Given the description of an element on the screen output the (x, y) to click on. 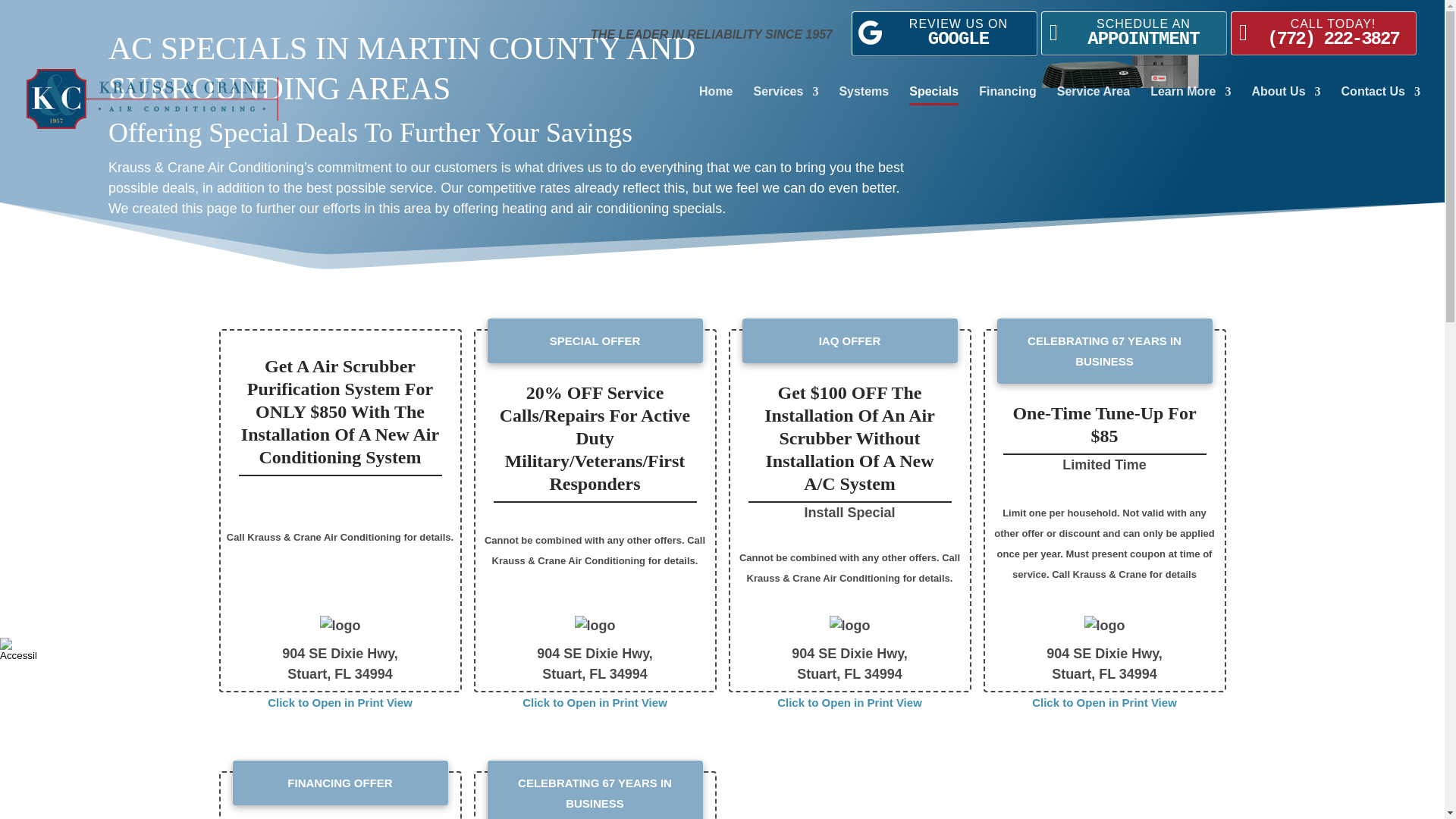
Service Area (1093, 104)
Click to Open in Print View (339, 702)
Read Our Customer Reviews (943, 33)
Contact Us (1380, 104)
Call Us Now! (1061, 33)
Schedule an Appointment (1323, 33)
Financing (1134, 33)
Systems (1243, 33)
Home (1007, 104)
Accessibility Helper sidebar (863, 104)
Services (715, 104)
Click to Open in Print View (18, 648)
Learn More (786, 104)
